Given the description of an element on the screen output the (x, y) to click on. 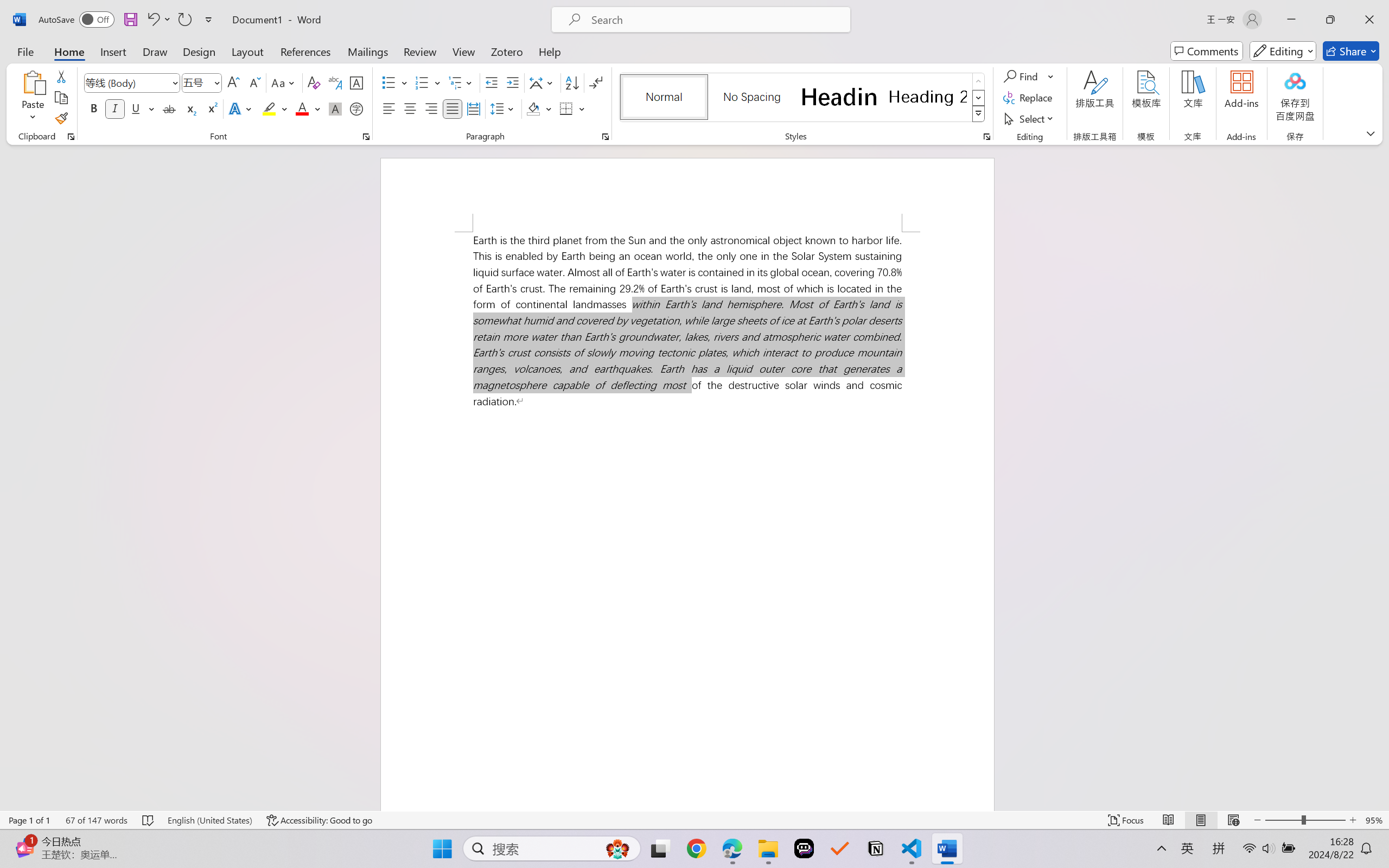
Decrease Indent (491, 82)
Sort... (571, 82)
Align Left (388, 108)
Superscript (210, 108)
Change Case (284, 82)
Font... (365, 136)
Styles... (986, 136)
Copy (60, 97)
Heading 1 (839, 96)
